Given the description of an element on the screen output the (x, y) to click on. 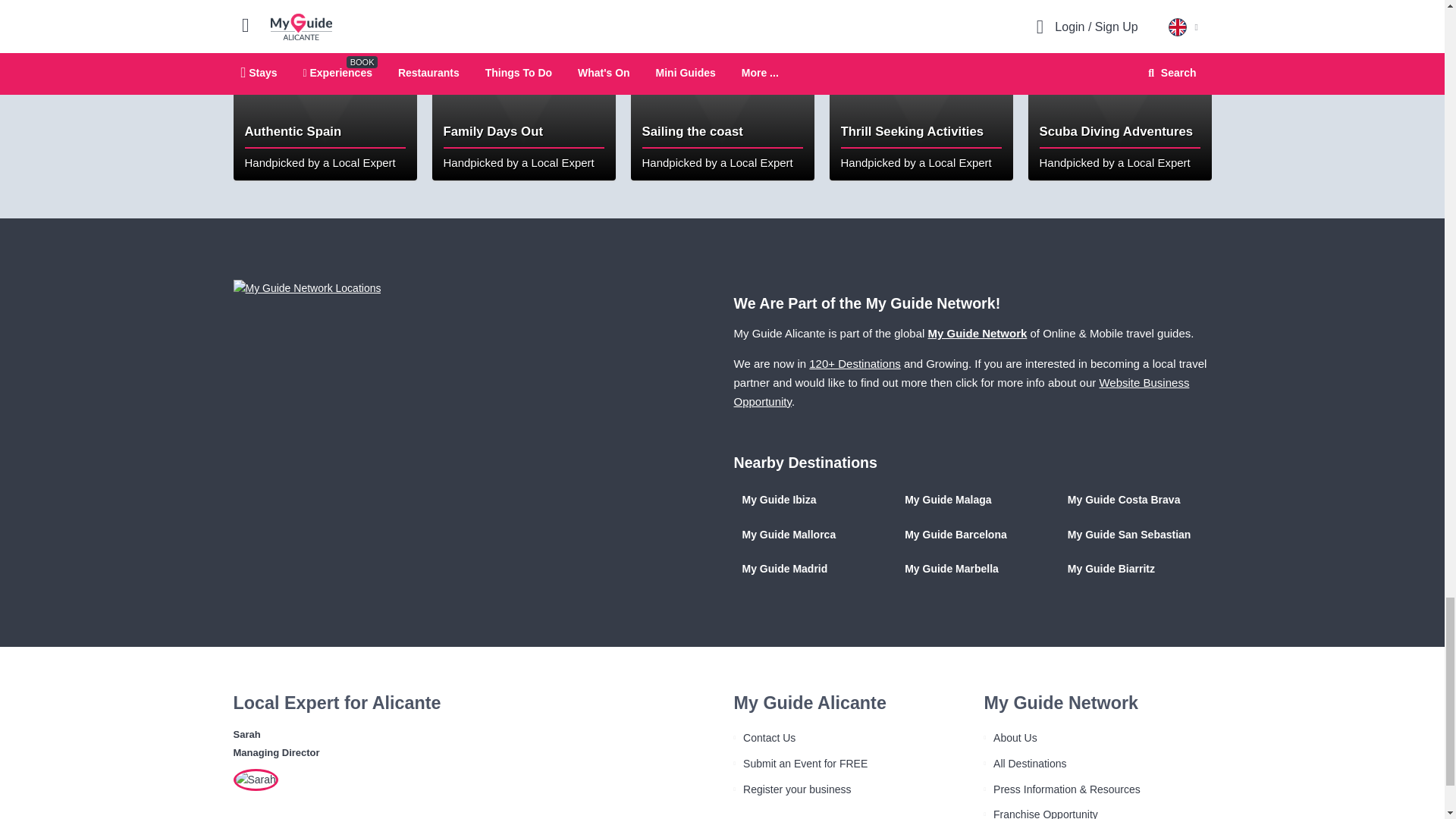
Authentic Spain (324, 90)
Family Days Out (523, 90)
